Given the description of an element on the screen output the (x, y) to click on. 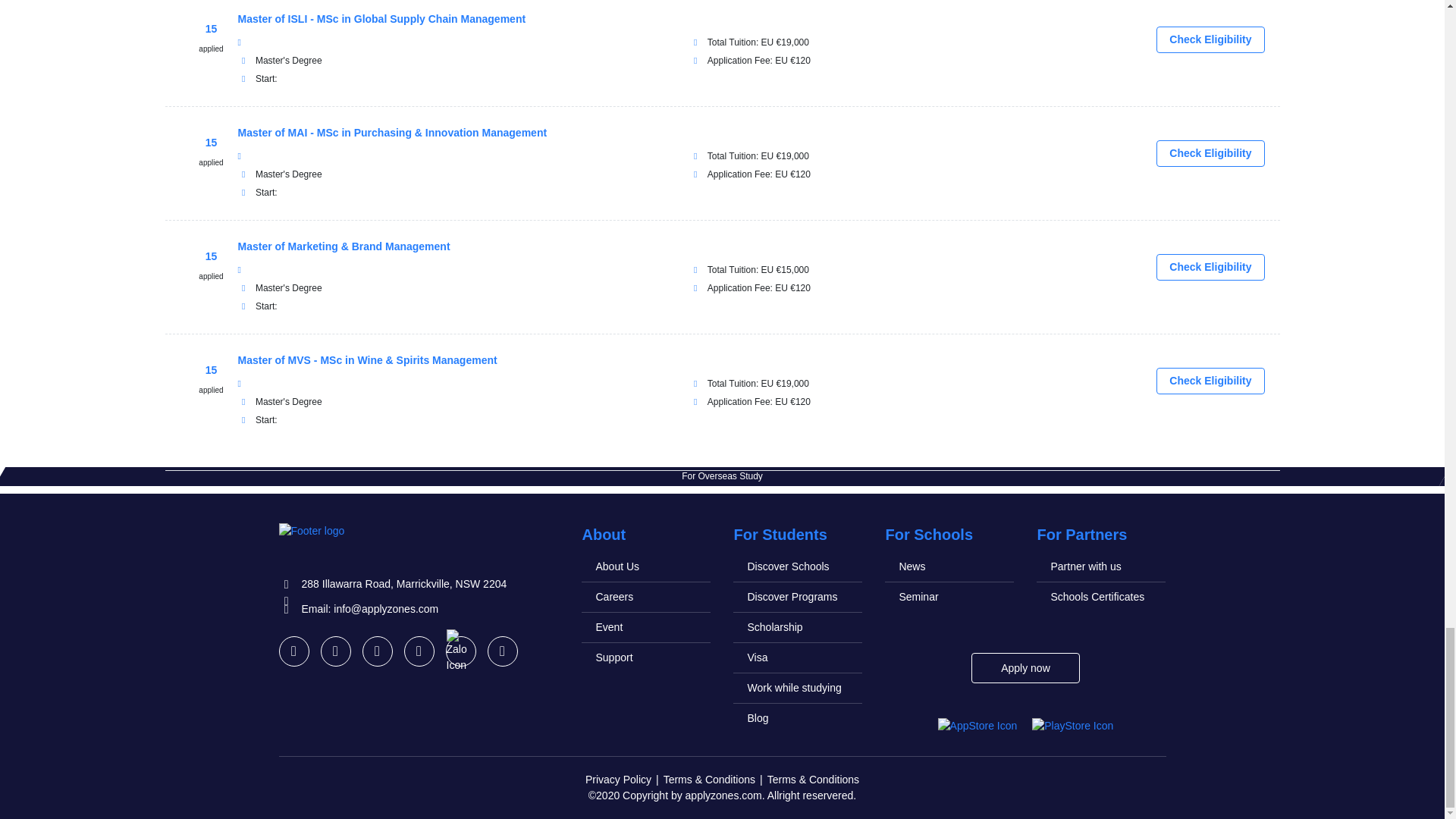
Master of ISLI - MSc in Global Supply Chain Management (381, 19)
Check Eligibility (1209, 380)
Check Eligibility (1209, 39)
Check Eligibility (1209, 266)
Master of ISLI - MSc in Global Supply Chain Management (381, 19)
Check Eligibility (1209, 153)
